Given the description of an element on the screen output the (x, y) to click on. 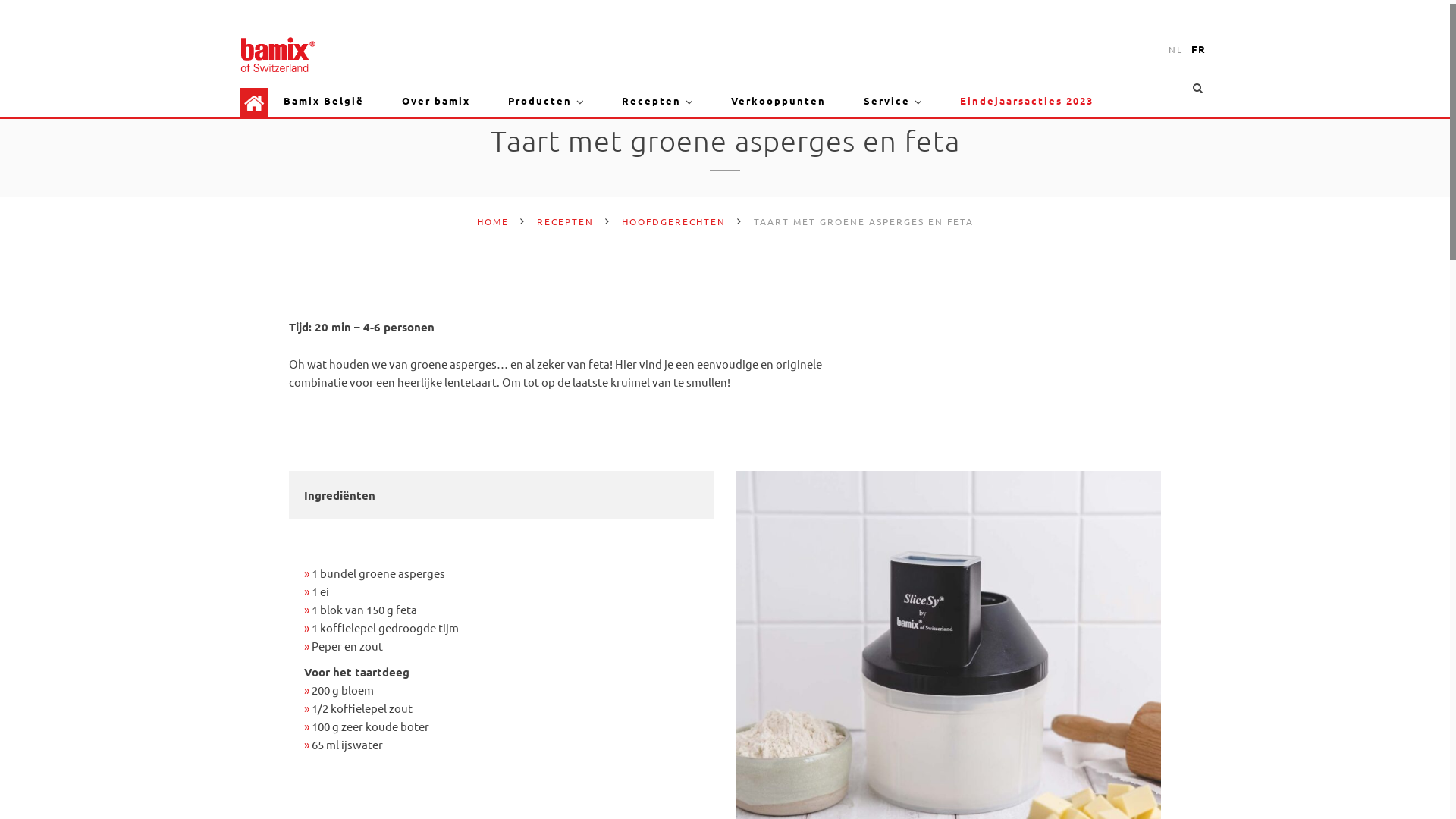
Service Element type: text (886, 100)
RECEPTEN Element type: text (564, 221)
HOME Element type: text (492, 221)
Eindejaarsacties 2023 Element type: text (1026, 100)
FR Element type: text (1198, 48)
Producten Element type: text (539, 100)
HOOFDGERECHTEN Element type: text (673, 221)
Over bamix Element type: text (435, 100)
Verkooppunten Element type: text (778, 100)
Recepten Element type: text (650, 100)
